Given the description of an element on the screen output the (x, y) to click on. 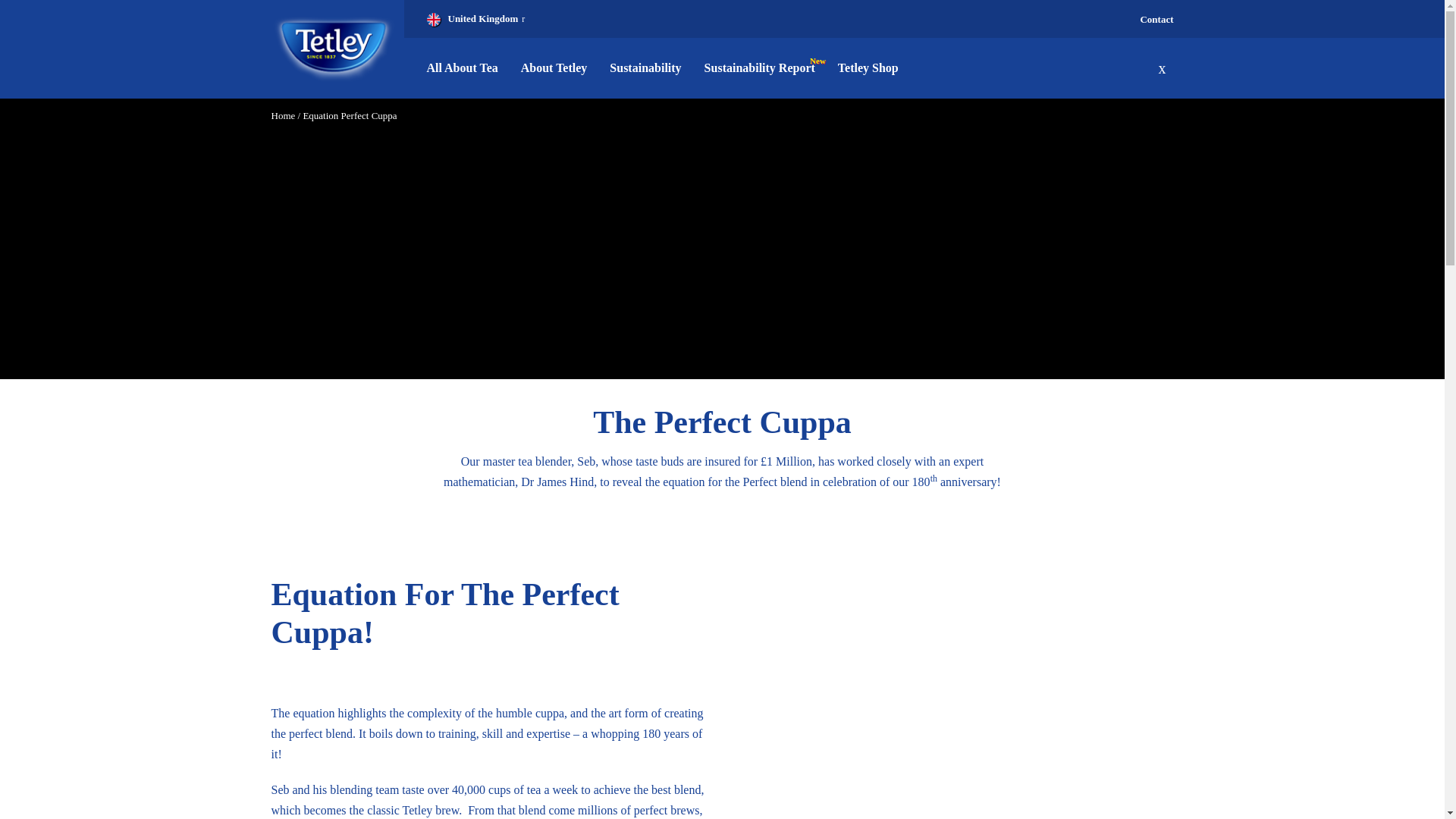
Contact (1156, 19)
Sustainability (645, 67)
Home (282, 115)
Home (333, 47)
All About Tea (467, 67)
Country Selector (475, 18)
Contact (1156, 19)
United Kingdom (475, 18)
About Tetley (553, 67)
